Given the description of an element on the screen output the (x, y) to click on. 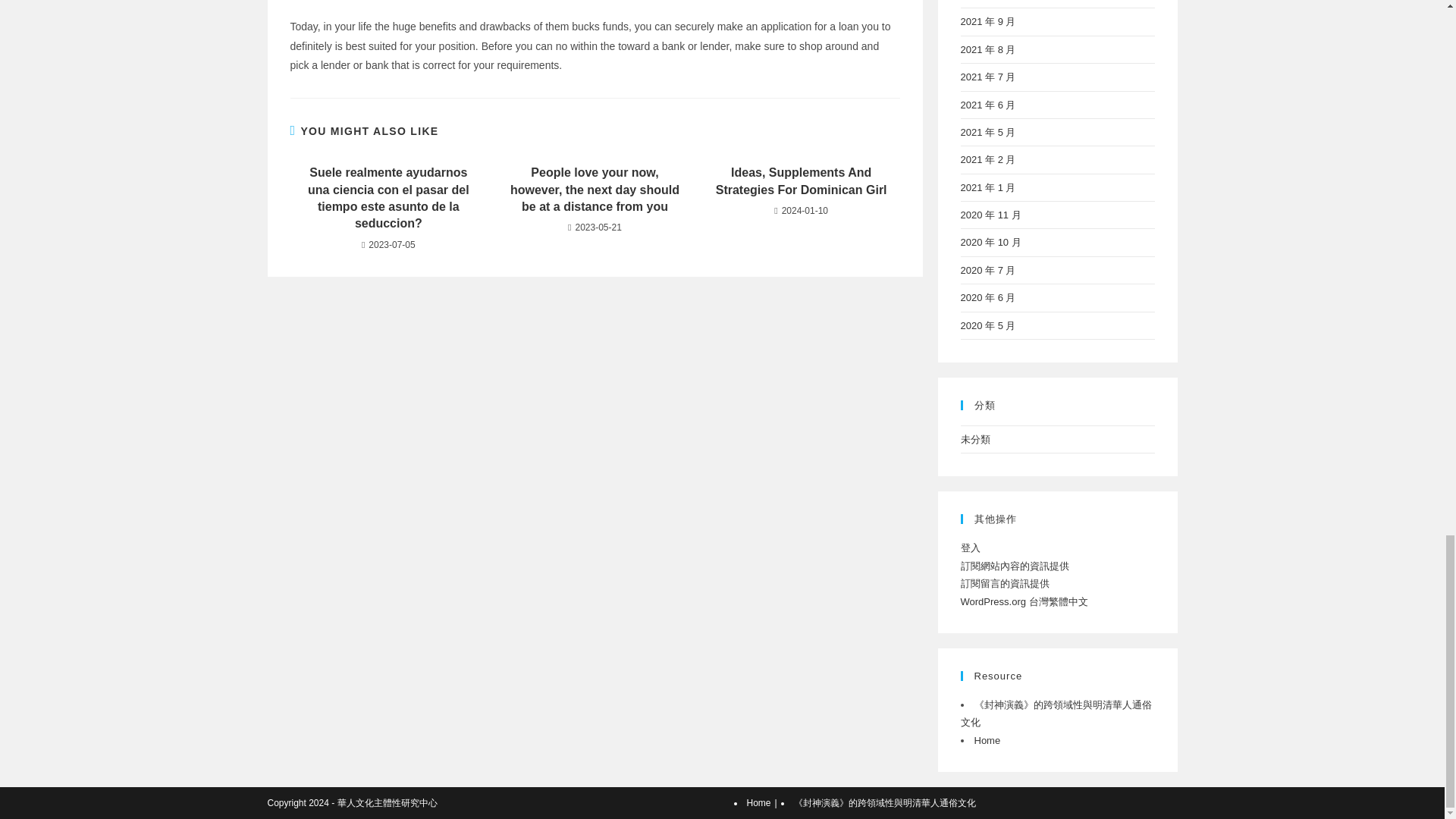
Ideas, Supplements And Strategies For Dominican Girl (801, 181)
